Given the description of an element on the screen output the (x, y) to click on. 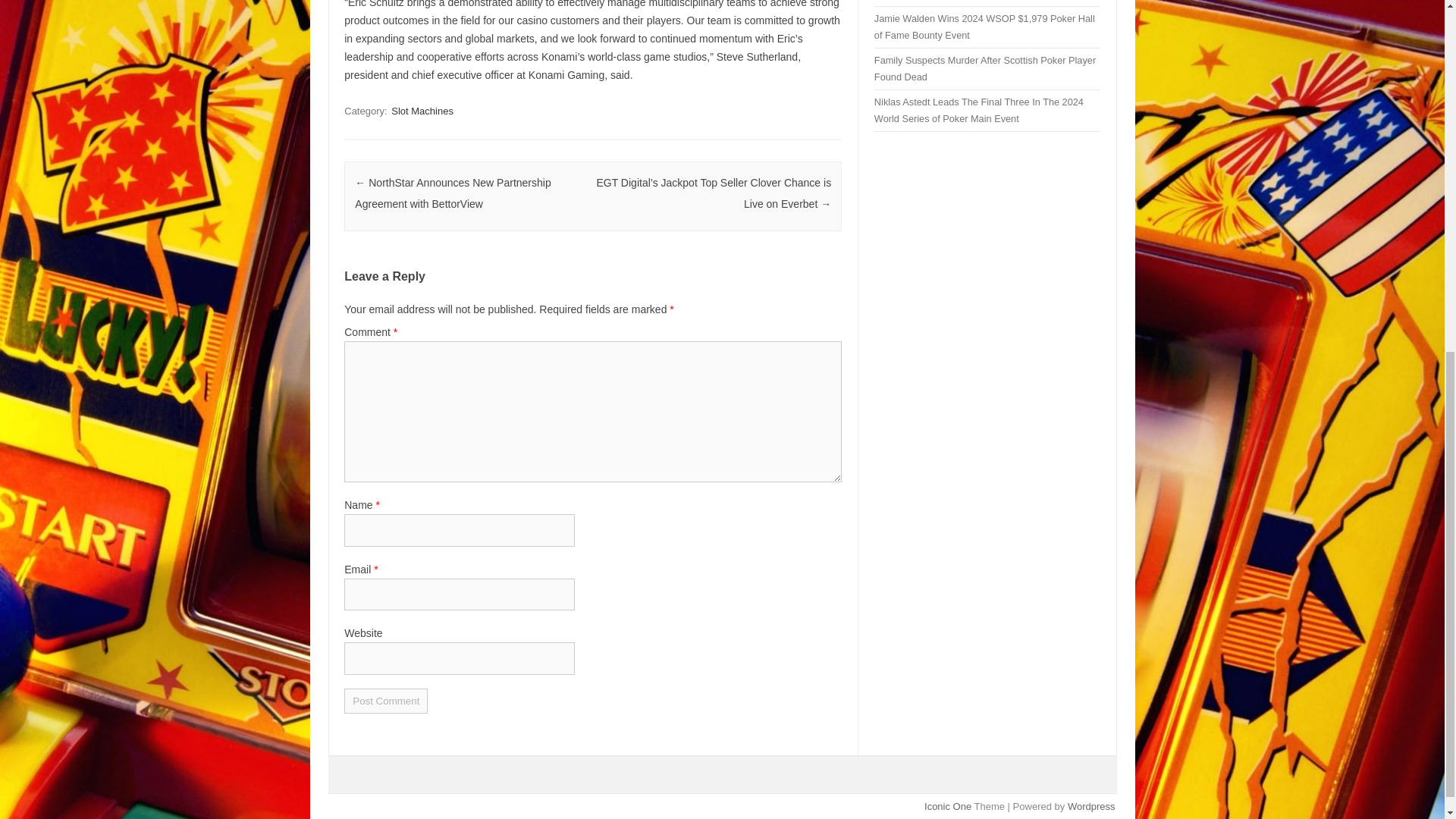
Post Comment (385, 700)
Iconic One (947, 806)
Slot Machines (422, 110)
Post Comment (385, 700)
Wordpress (1091, 806)
